Given the description of an element on the screen output the (x, y) to click on. 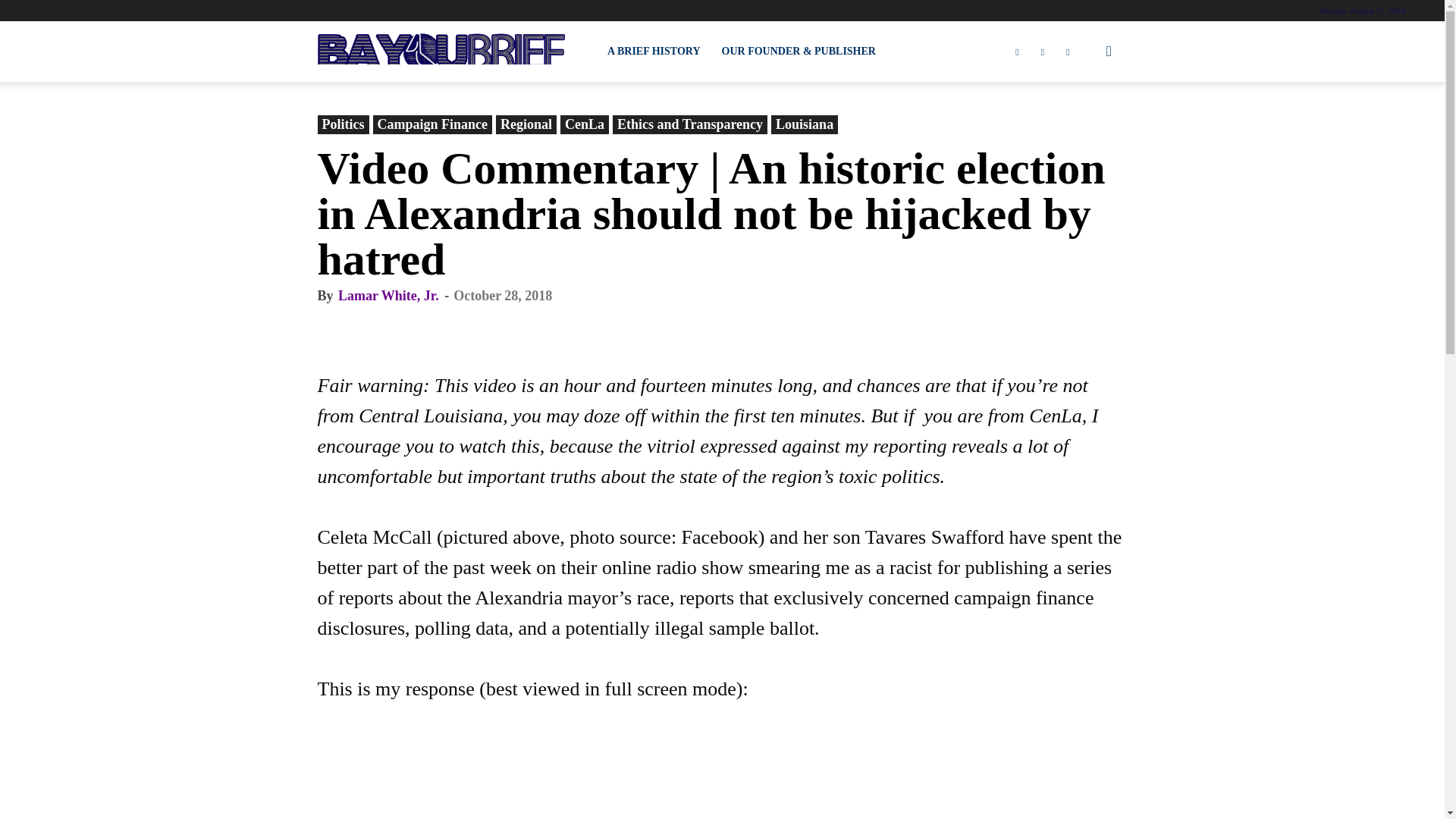
Regional (526, 124)
Lamar White, Jr. (388, 295)
Search (1085, 124)
Louisiana (804, 124)
Ethics and Transparency (689, 124)
Politics (342, 124)
A BRIEF HISTORY (653, 51)
CenLa (584, 124)
Bayou Brief (440, 51)
Campaign Finance (432, 124)
